Given the description of an element on the screen output the (x, y) to click on. 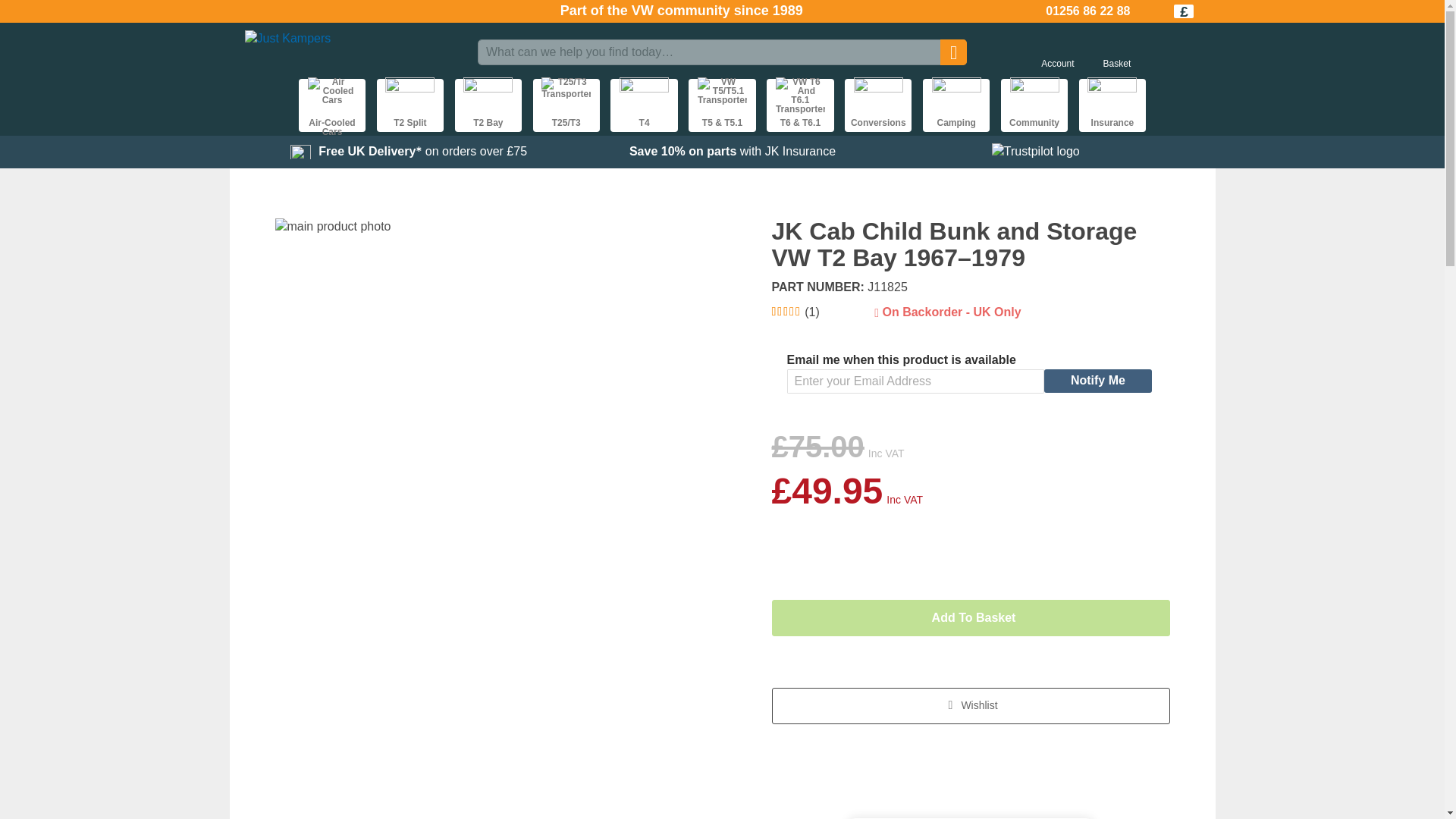
01256 86 22 88 (1087, 10)
Conversions (877, 104)
T4 (643, 104)
Camping (956, 104)
Add to Basket (970, 617)
T2 Split (410, 104)
Availability (947, 311)
Community (1034, 104)
Just Kampers (354, 52)
T2 Bay (487, 104)
